Given the description of an element on the screen output the (x, y) to click on. 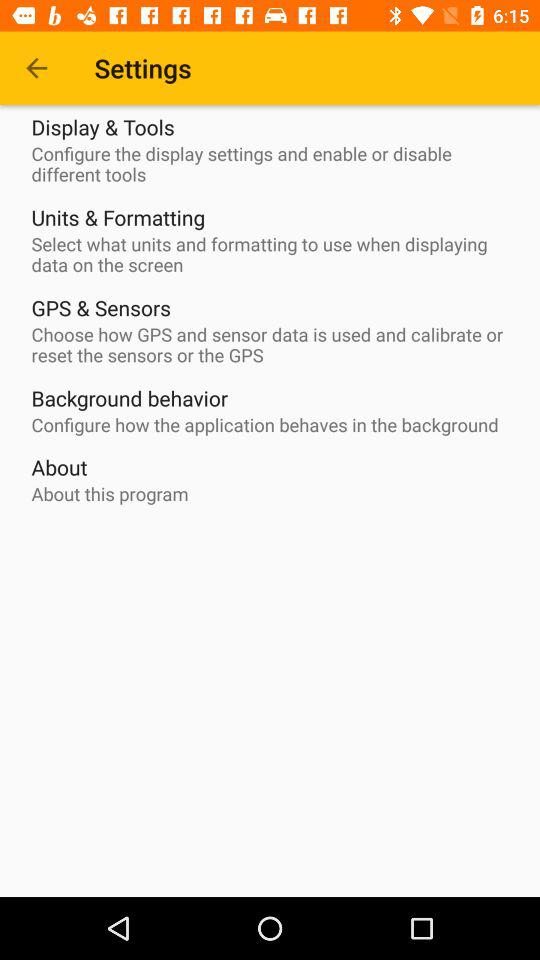
jump until the background behavior item (129, 398)
